Given the description of an element on the screen output the (x, y) to click on. 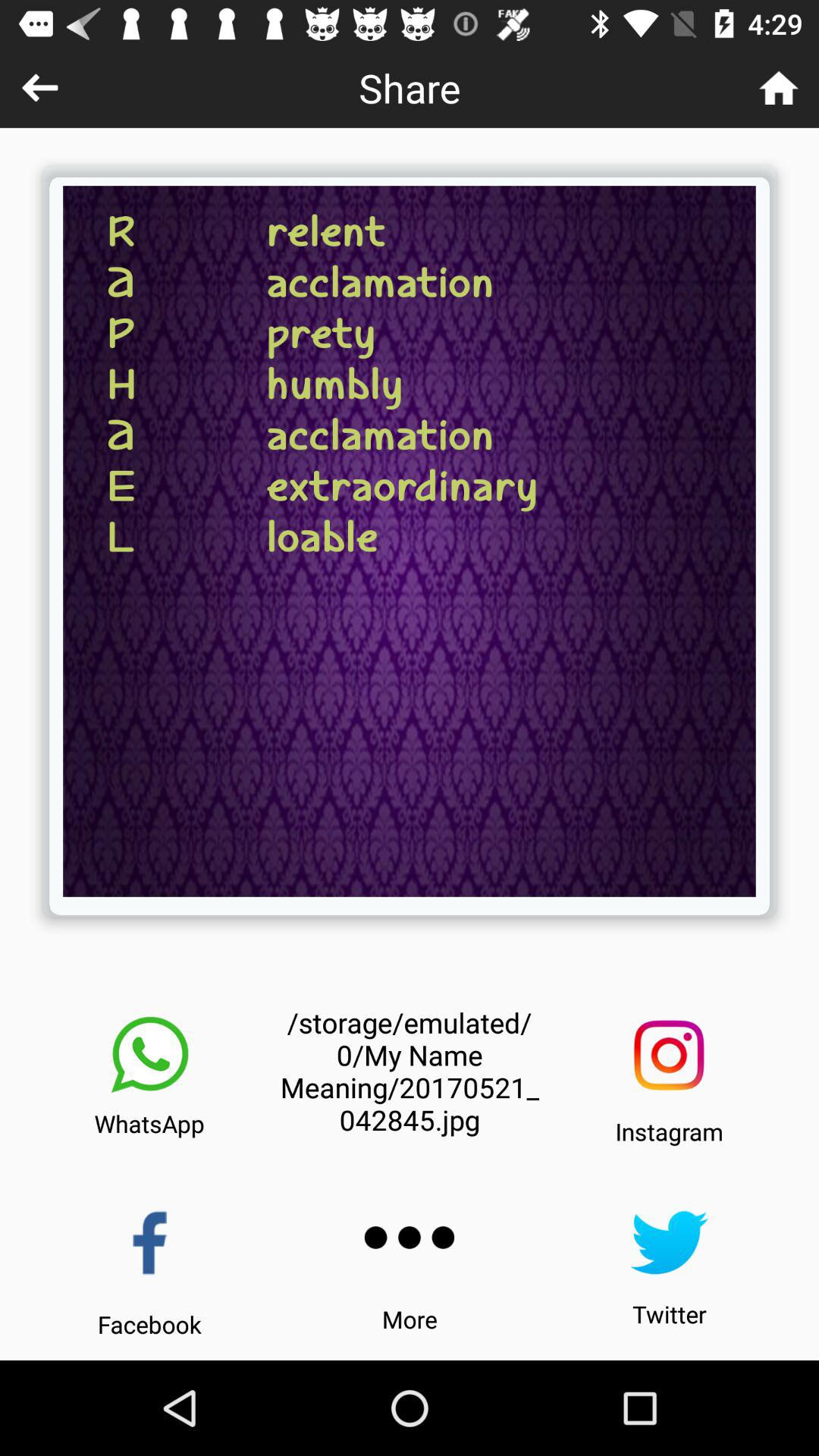
share to whatsapp (149, 1055)
